Given the description of an element on the screen output the (x, y) to click on. 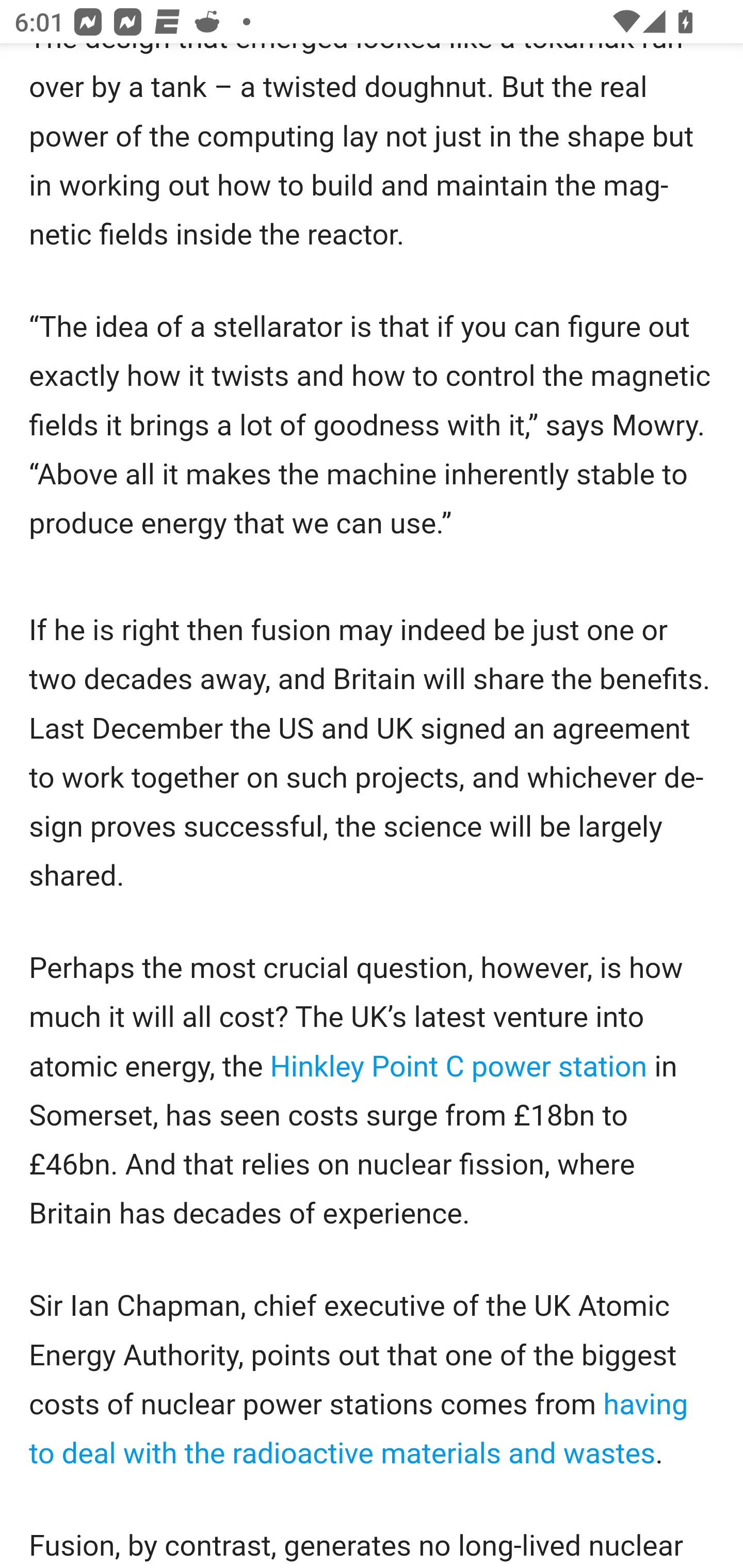
Hinkley Point C power station (457, 1065)
